Given the description of an element on the screen output the (x, y) to click on. 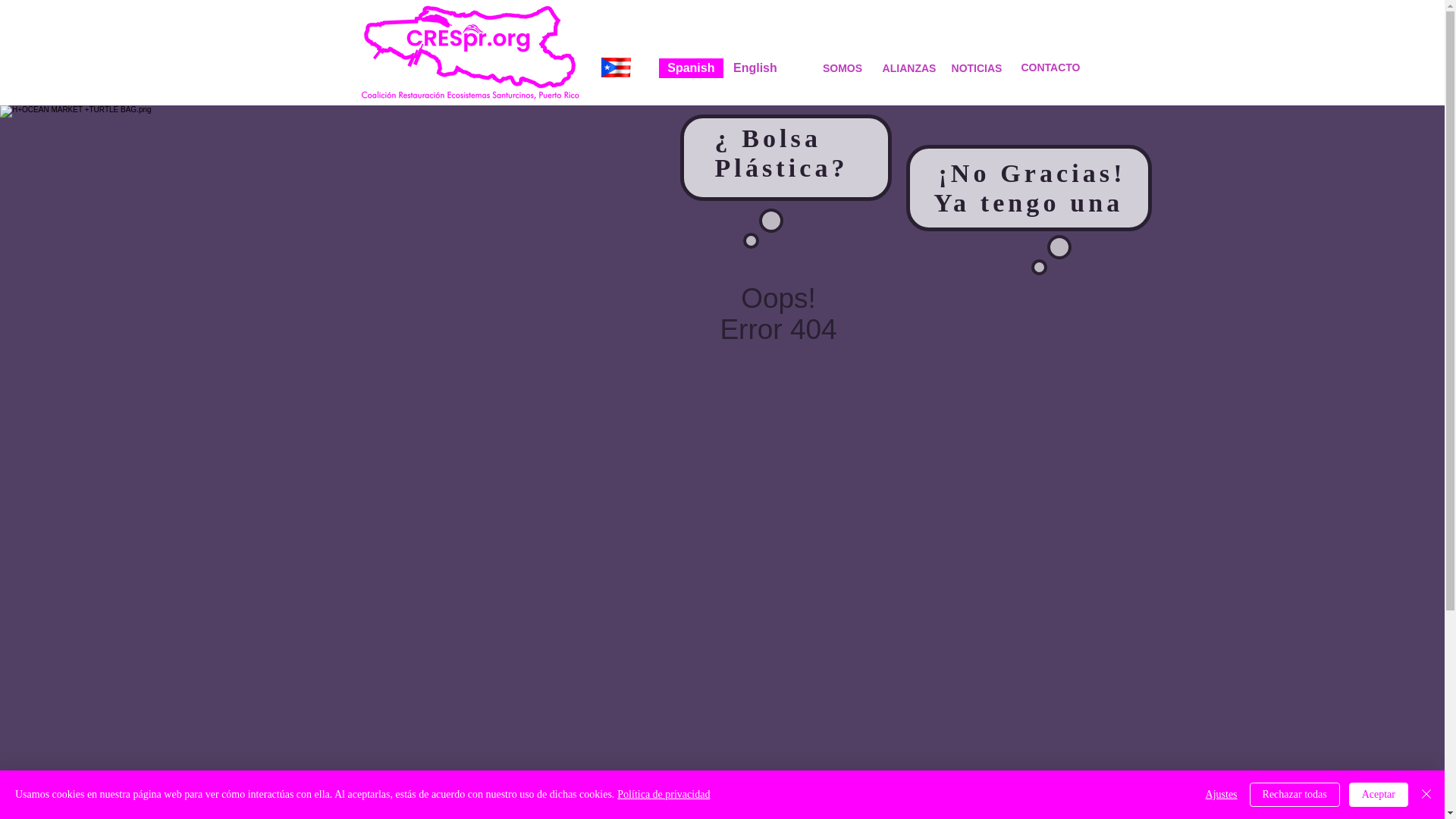
Aceptar (1378, 794)
English (754, 67)
ALIANZAS (908, 68)
CONTACTO (1050, 67)
SOMOS (842, 68)
NOTICIAS (976, 68)
Spanish (690, 67)
Rechazar todas (1294, 794)
VOLVER AL INICIO (922, 808)
